Given the description of an element on the screen output the (x, y) to click on. 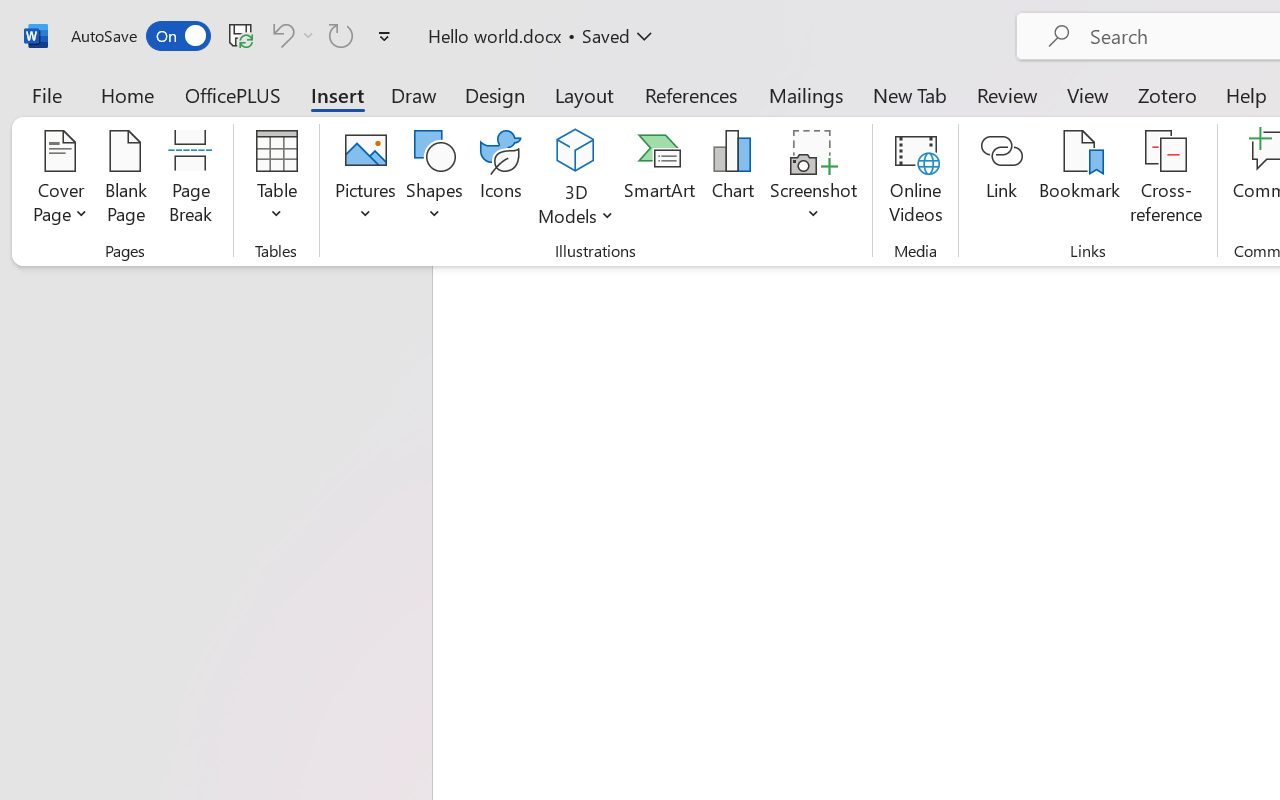
Icons (500, 179)
Link (1001, 179)
Save (241, 35)
Layout (584, 94)
Chart... (732, 179)
New Tab (909, 94)
Table (276, 179)
Blank Page (125, 179)
Quick Access Toolbar (233, 36)
Design (495, 94)
Insert (337, 94)
Screenshot (813, 179)
Shapes (435, 179)
